Given the description of an element on the screen output the (x, y) to click on. 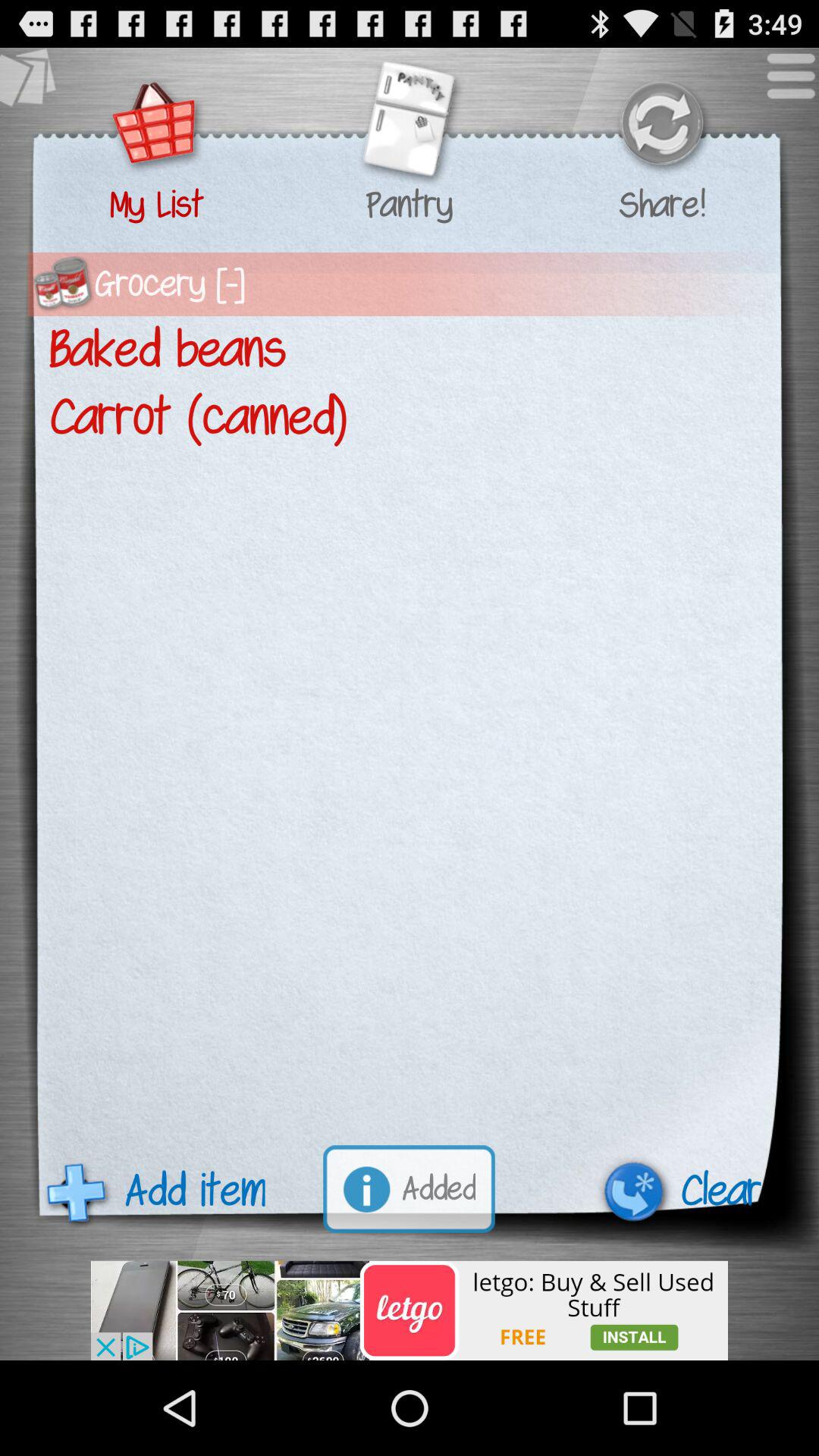
click to install letgo app (409, 1310)
